Given the description of an element on the screen output the (x, y) to click on. 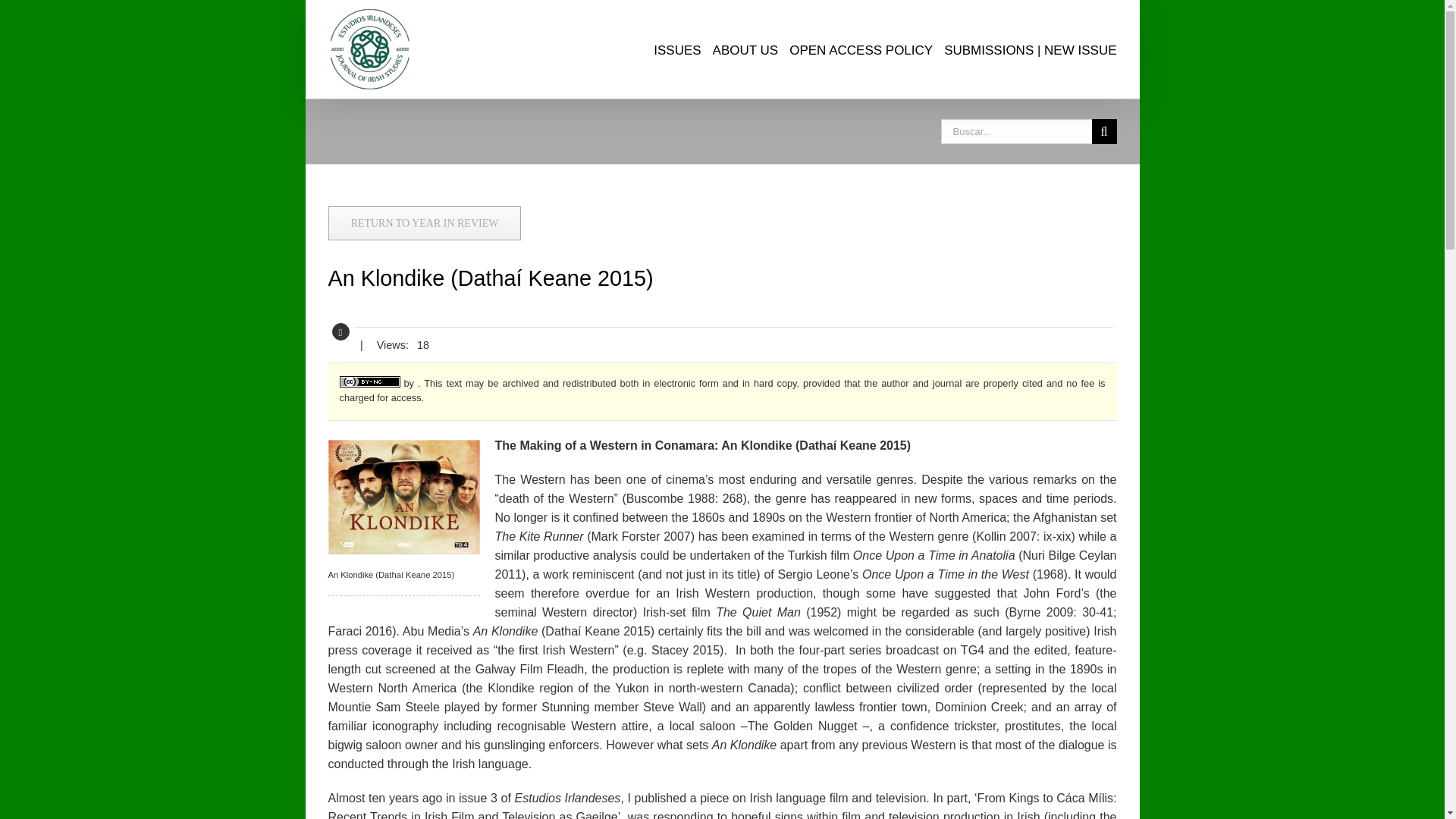
OPEN ACCESS POLICY (861, 49)
